Given the description of an element on the screen output the (x, y) to click on. 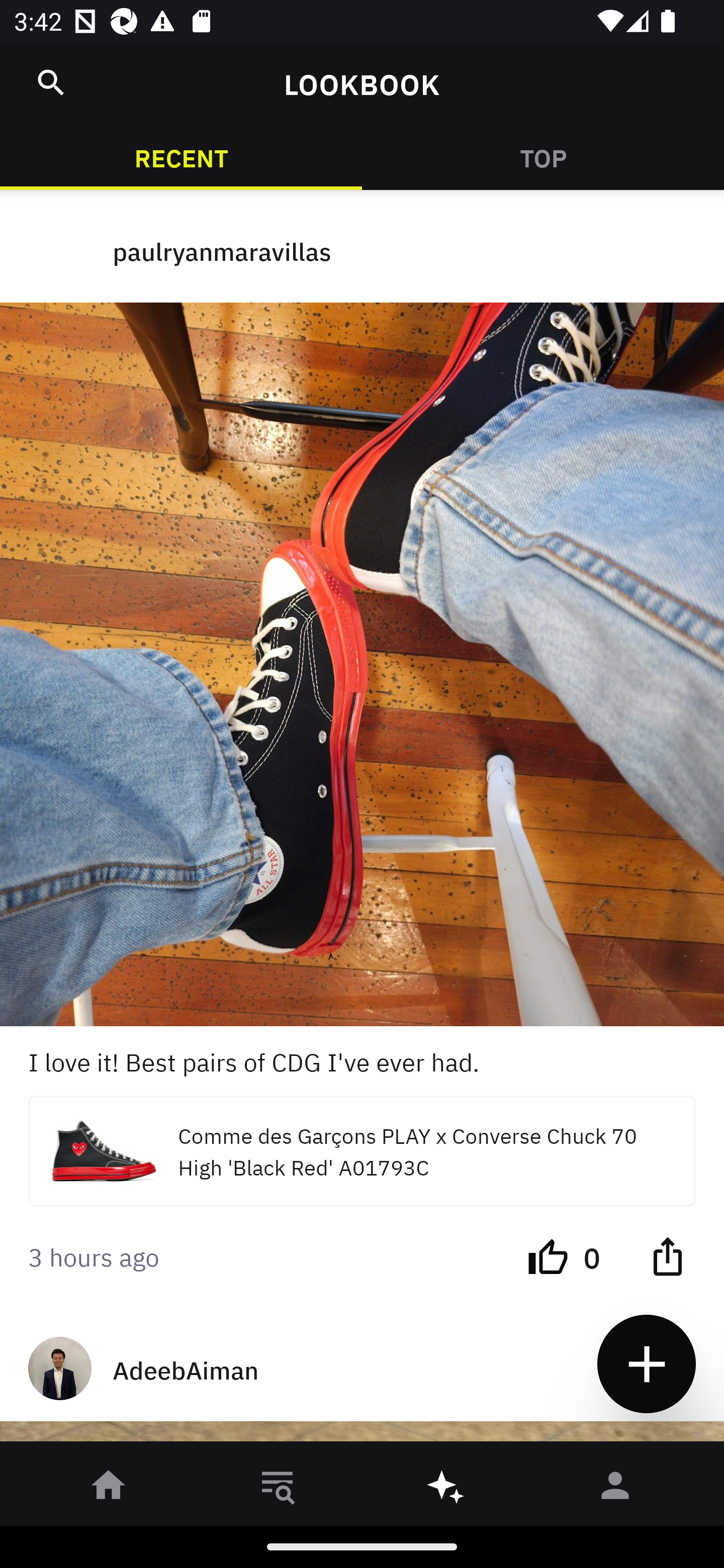
 (51, 82)
RECENT (181, 156)
TOP (543, 156)
I love it! Best pairs of CDG I've ever had. (362, 1060)
󰔔 (547, 1255)
 (667, 1255)
󰋜 (108, 1488)
󱎸 (277, 1488)
󰫢 (446, 1488)
󰀄 (615, 1488)
